Given the description of an element on the screen output the (x, y) to click on. 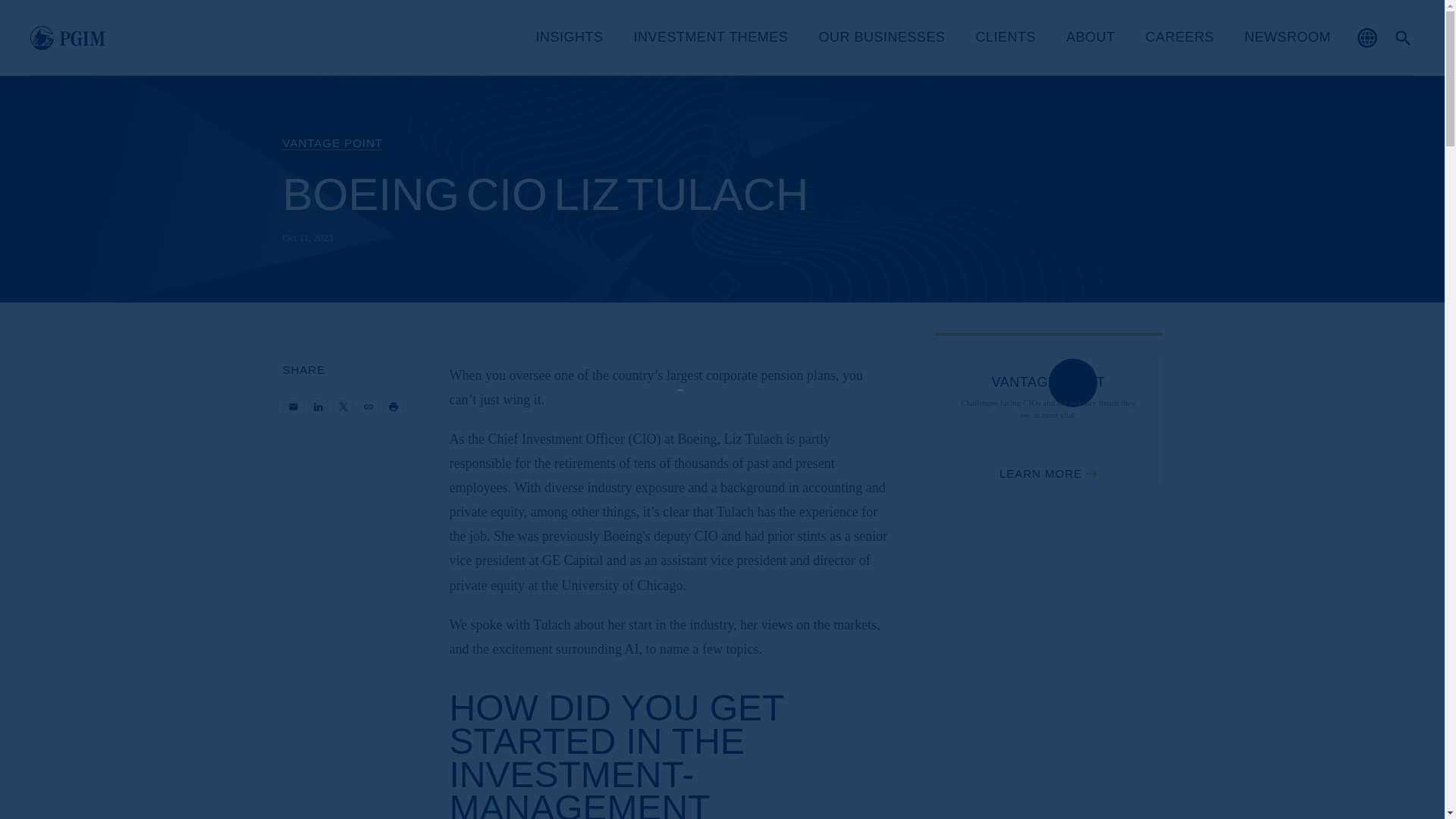
INSIGHTS (568, 37)
OUR BUSINESSES (881, 37)
INVESTMENT THEMES (711, 37)
CLIENTS (1005, 37)
ABOUT (1090, 37)
